Given the description of an element on the screen output the (x, y) to click on. 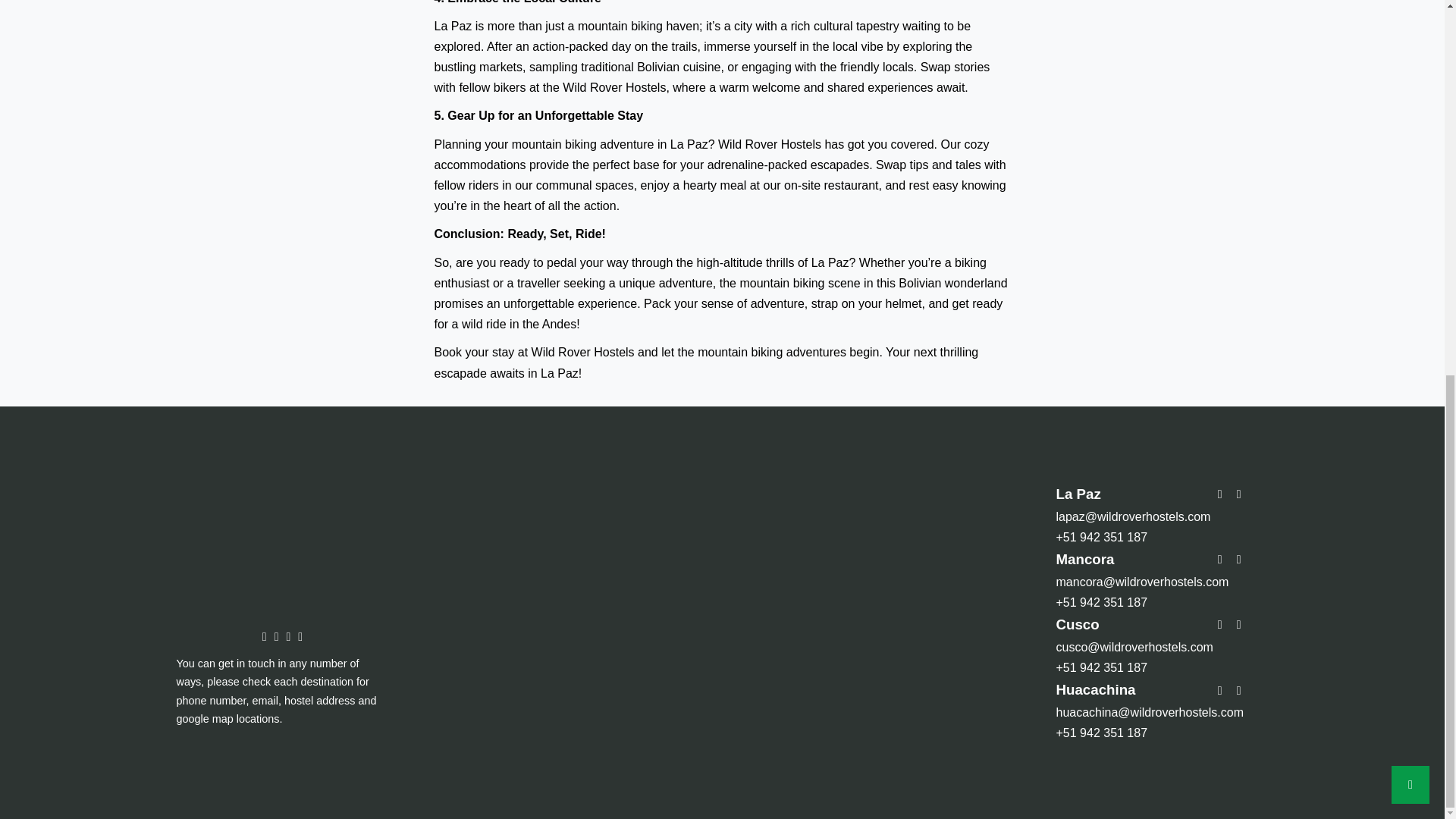
La Paz (1077, 494)
Mancora (1084, 559)
Huacachina (1095, 689)
Cusco (1077, 624)
